Given the description of an element on the screen output the (x, y) to click on. 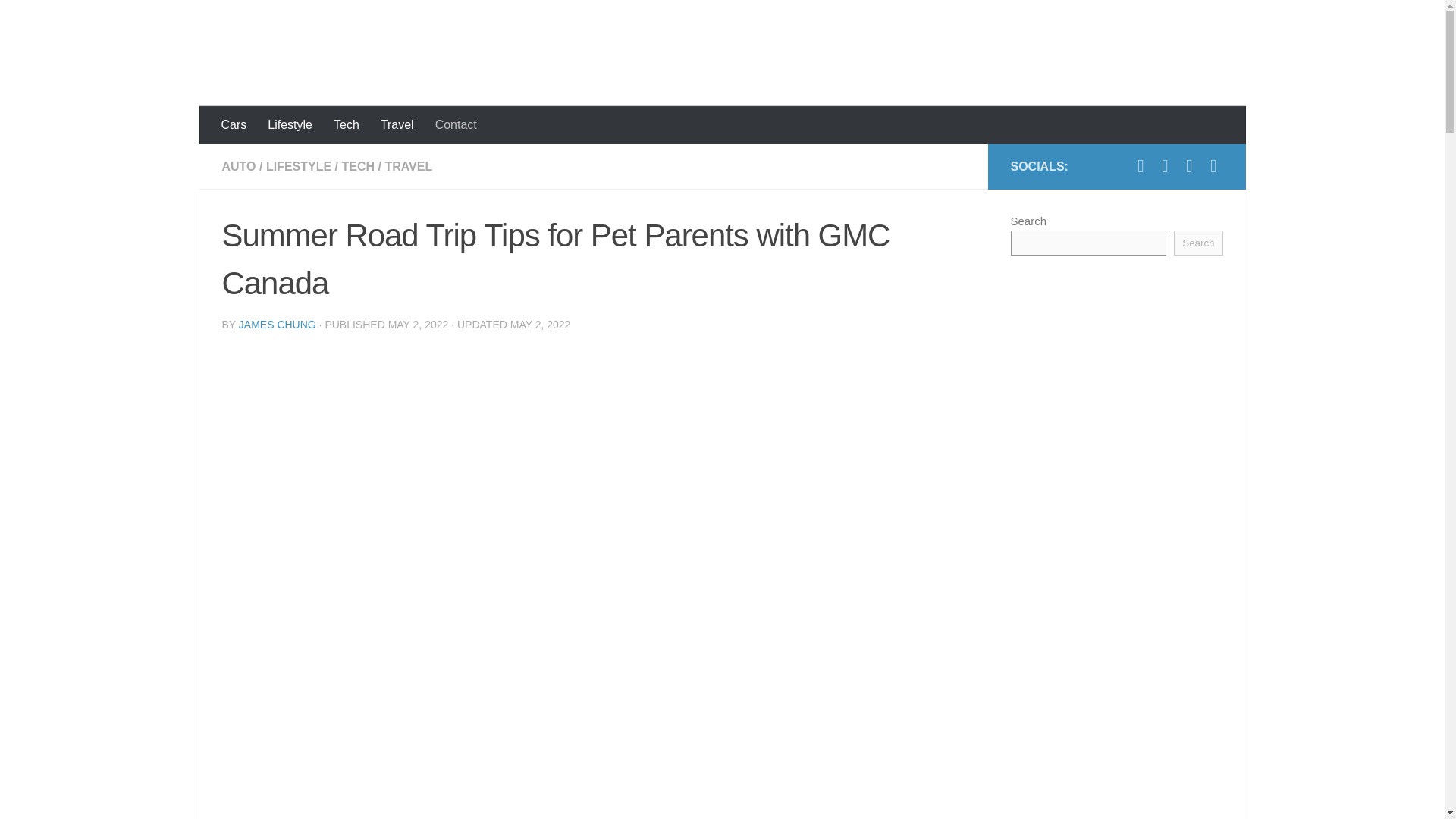
Follow us on Facebook (1188, 166)
Skip to content (63, 20)
Contact (456, 125)
Follow us on Tiktok (1164, 166)
Hello Vancity (317, 53)
AUTO (238, 165)
Follow us on Twitter (1213, 166)
TECH (357, 165)
Search (1198, 242)
LIFESTYLE (298, 165)
